Given the description of an element on the screen output the (x, y) to click on. 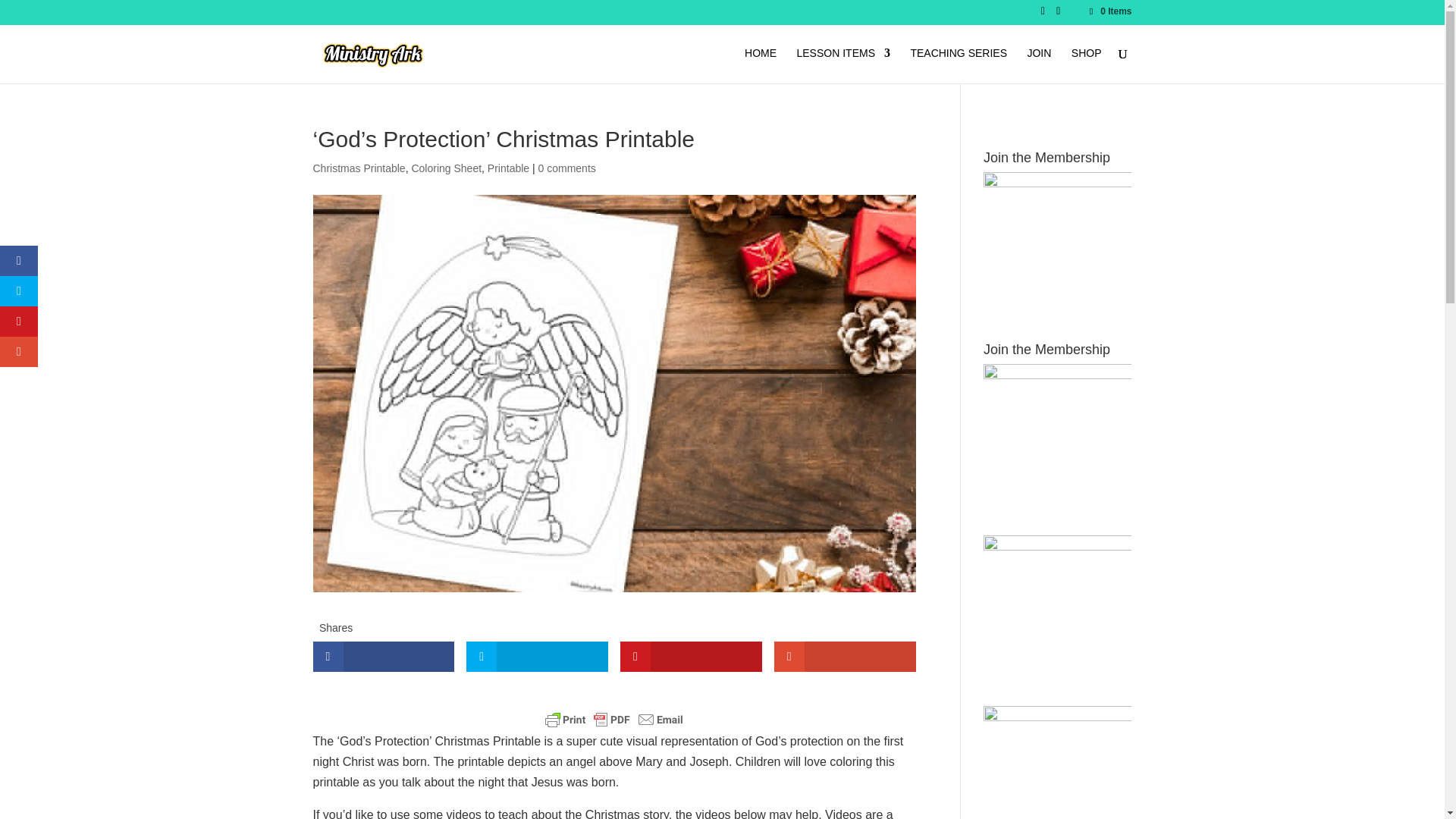
Christmas Printable (358, 168)
LESSON ITEMS (842, 65)
HOME (760, 65)
0 comments (566, 168)
TEACHING SERIES (958, 65)
Coloring Sheet (445, 168)
Printable (508, 168)
0 Items (1108, 10)
